Given the description of an element on the screen output the (x, y) to click on. 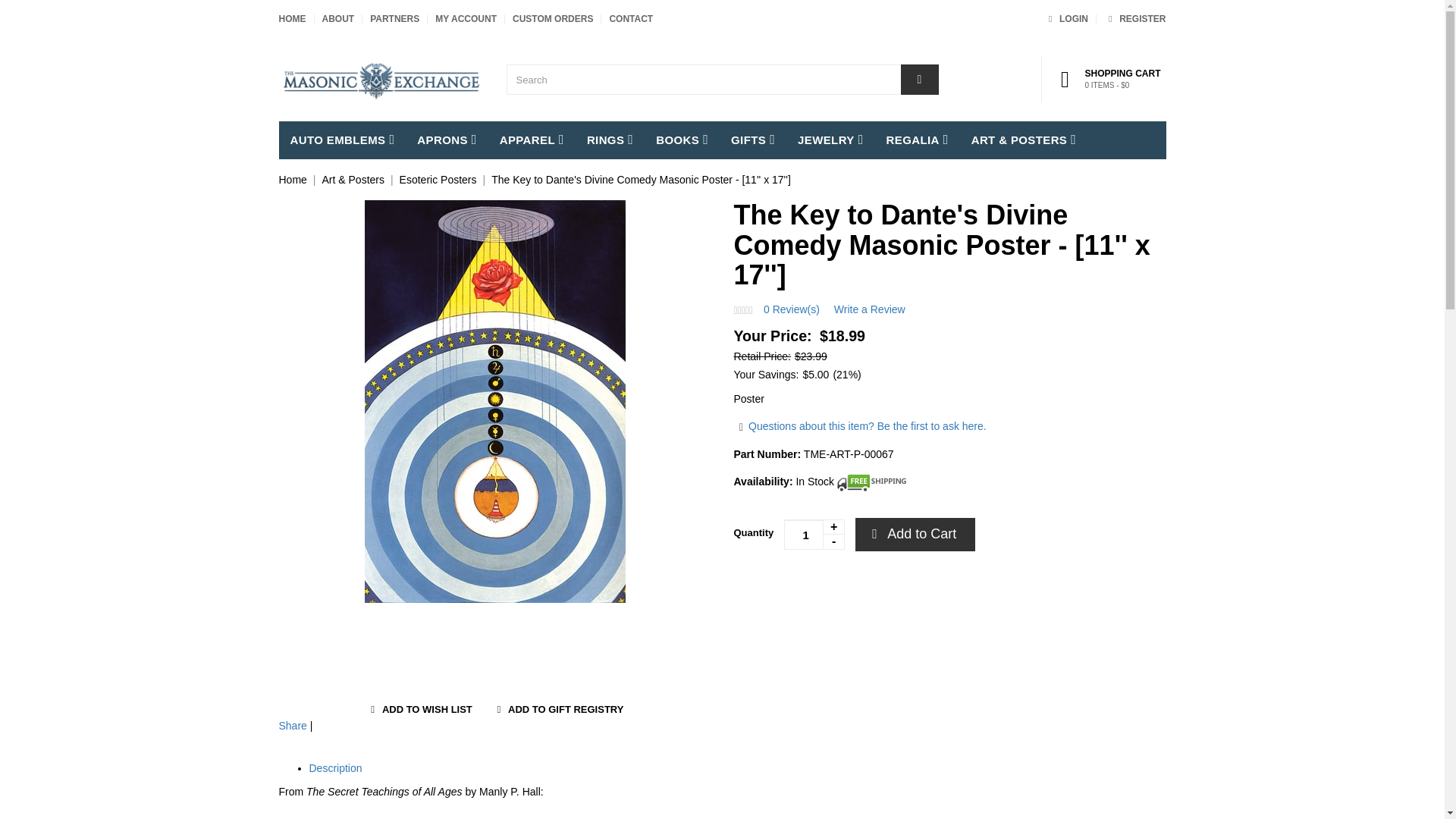
ABOUT (1065, 18)
AUTO EMBLEMS (337, 18)
MY ACCOUNT (342, 139)
HOME (465, 18)
1 (292, 18)
CONTACT (814, 534)
APRONS (630, 18)
PARTNERS (446, 139)
CUSTOM ORDERS (1134, 18)
